Given the description of an element on the screen output the (x, y) to click on. 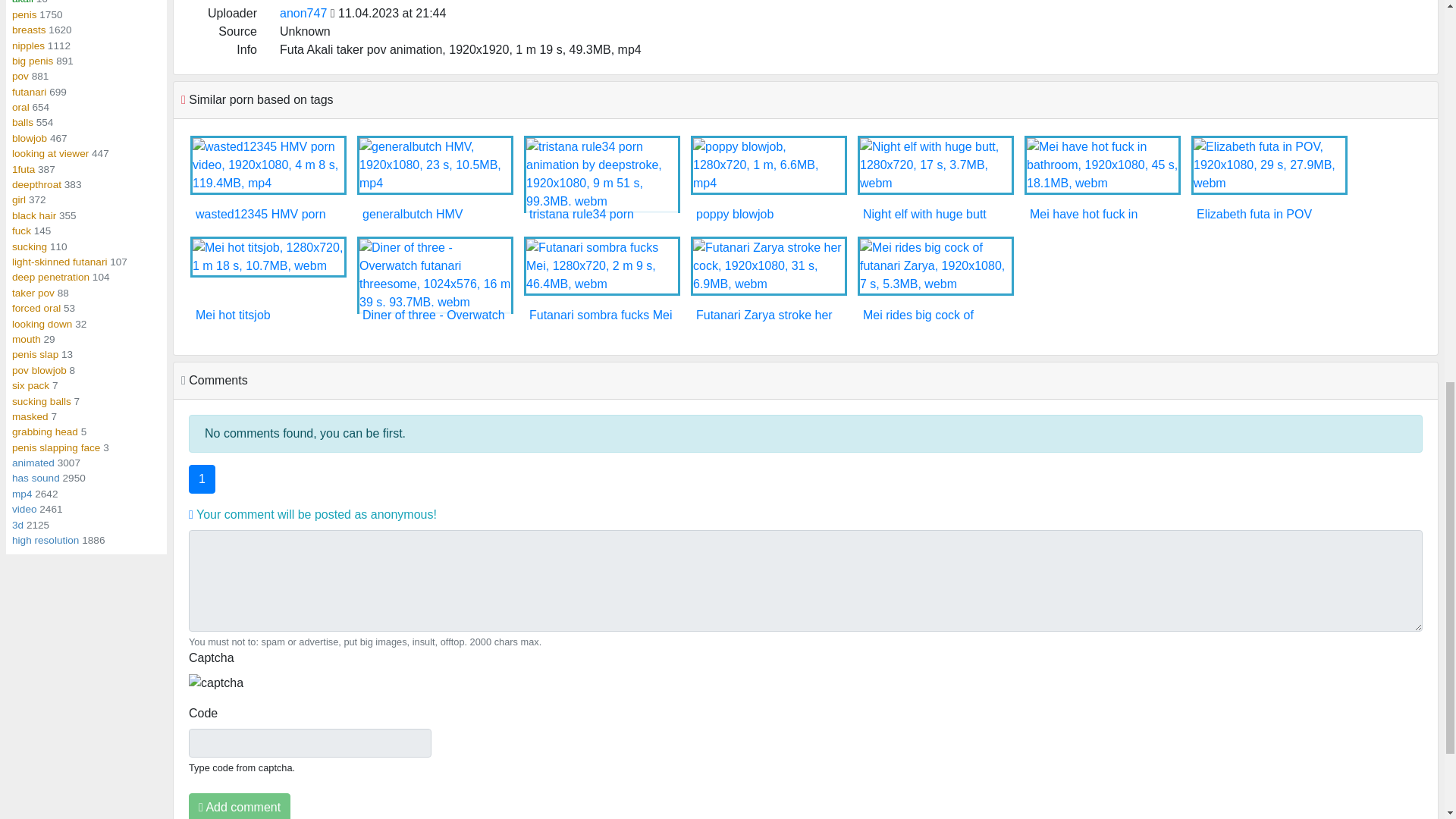
general (24, 14)
general (28, 138)
balls (22, 122)
light-skinned futanari (58, 261)
general (49, 153)
nipples (28, 45)
girl (18, 199)
general (22, 169)
general (28, 30)
general (31, 60)
